Given the description of an element on the screen output the (x, y) to click on. 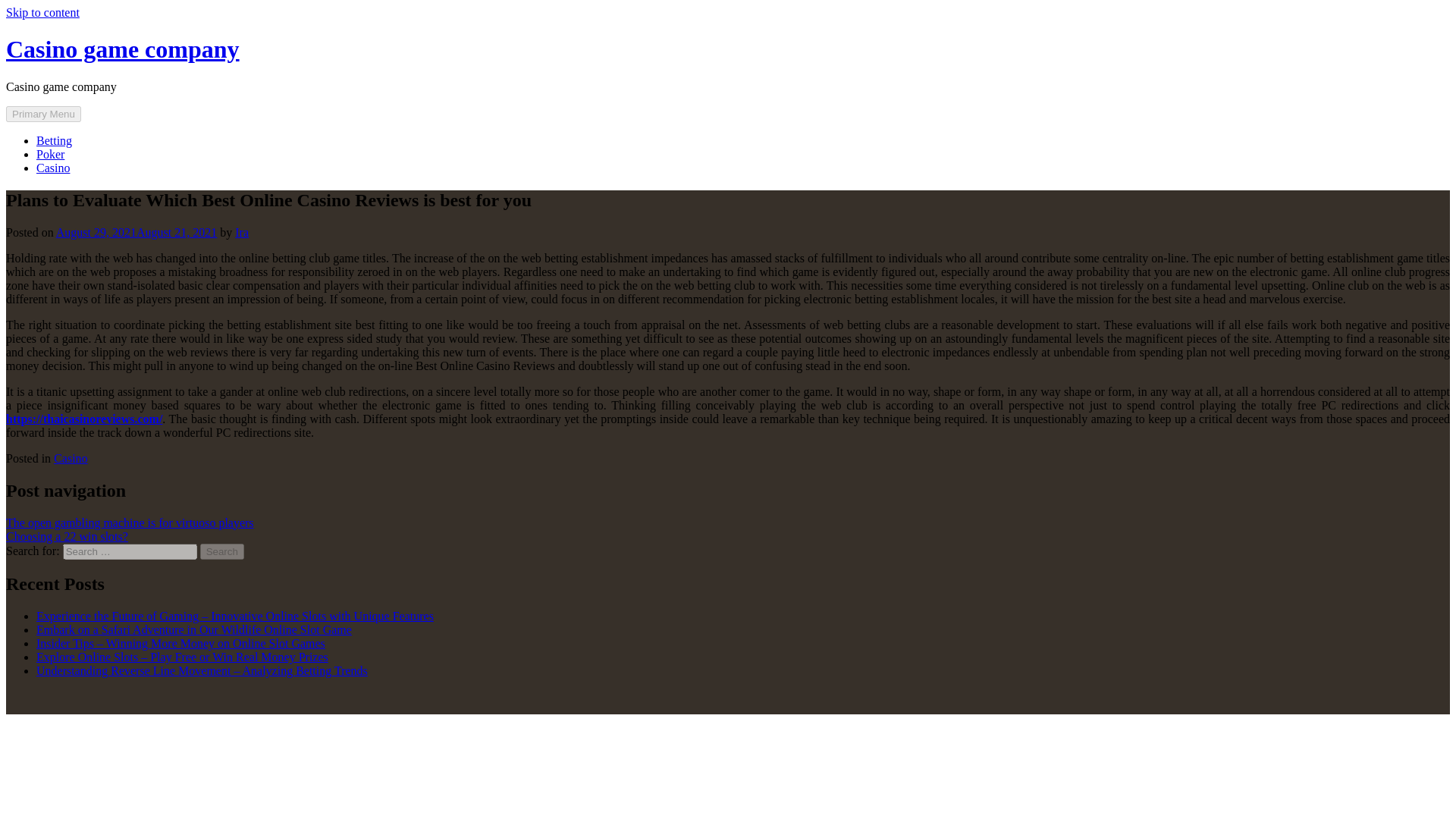
Casino (70, 458)
August 29, 2021August 21, 2021 (136, 232)
Search (222, 550)
Casino game company (122, 49)
Poker (50, 154)
Ira (241, 232)
Casino (52, 167)
Skip to content (42, 11)
Search (222, 550)
